Given the description of an element on the screen output the (x, y) to click on. 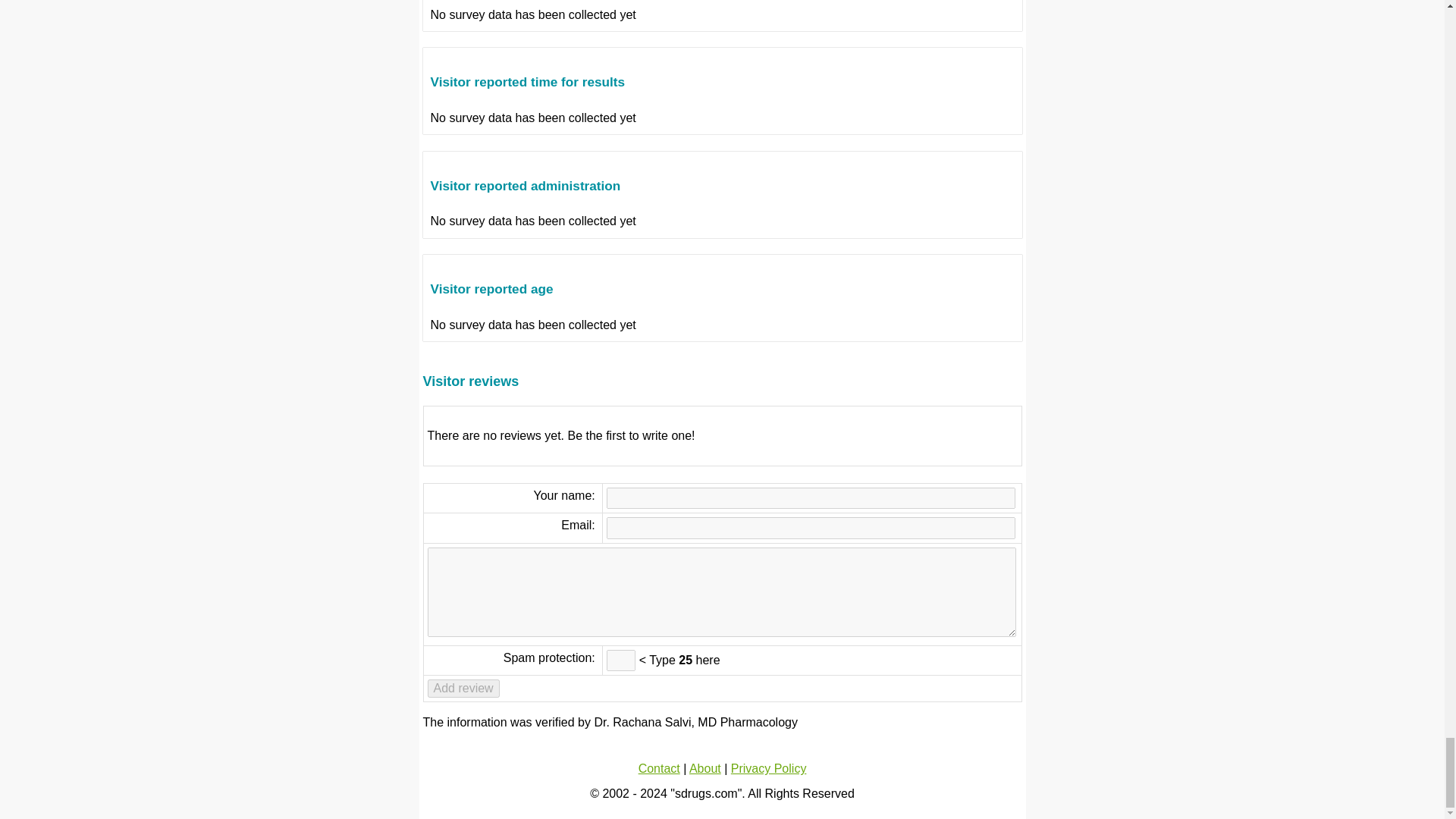
Add review (463, 688)
